Given the description of an element on the screen output the (x, y) to click on. 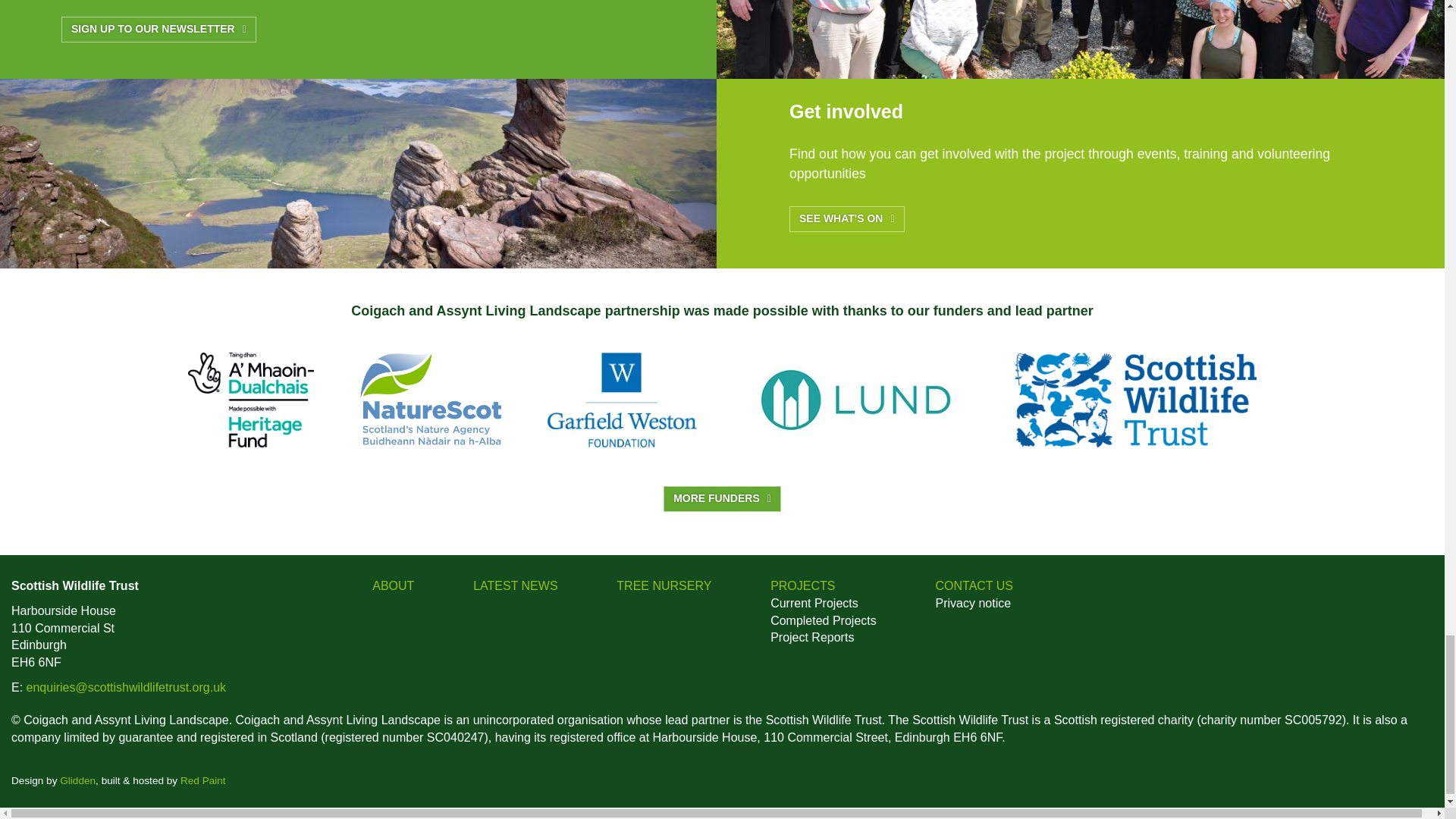
SIGN UP TO OUR NEWSLETTER (158, 29)
MORE FUNDERS (721, 498)
SEE WHAT'S ON (846, 218)
